Given the description of an element on the screen output the (x, y) to click on. 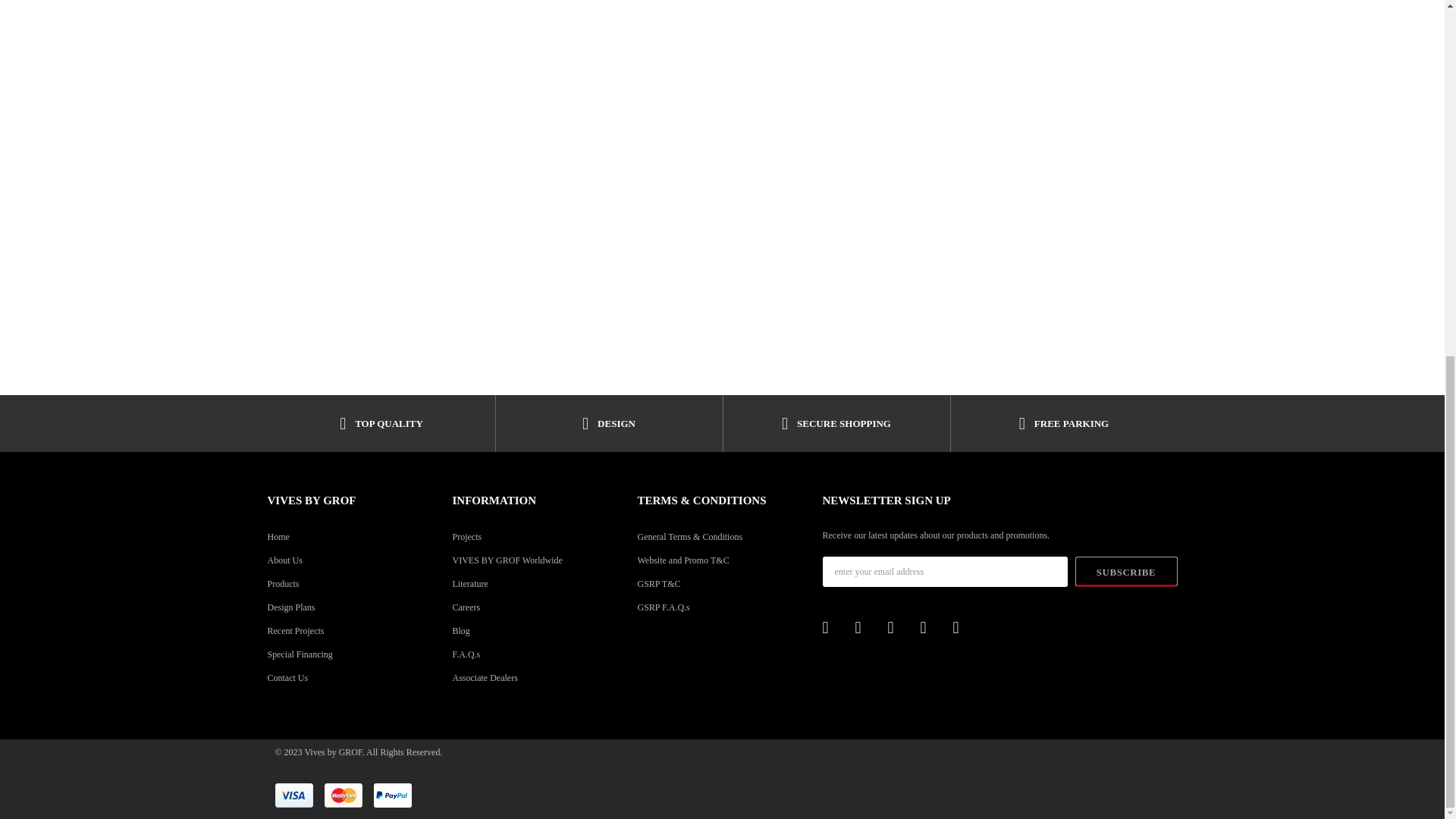
Pinterest (866, 627)
Vimeo (963, 627)
Subscribe (1126, 571)
YouTube (931, 627)
Instagram (898, 627)
Facebook (833, 627)
